Given the description of an element on the screen output the (x, y) to click on. 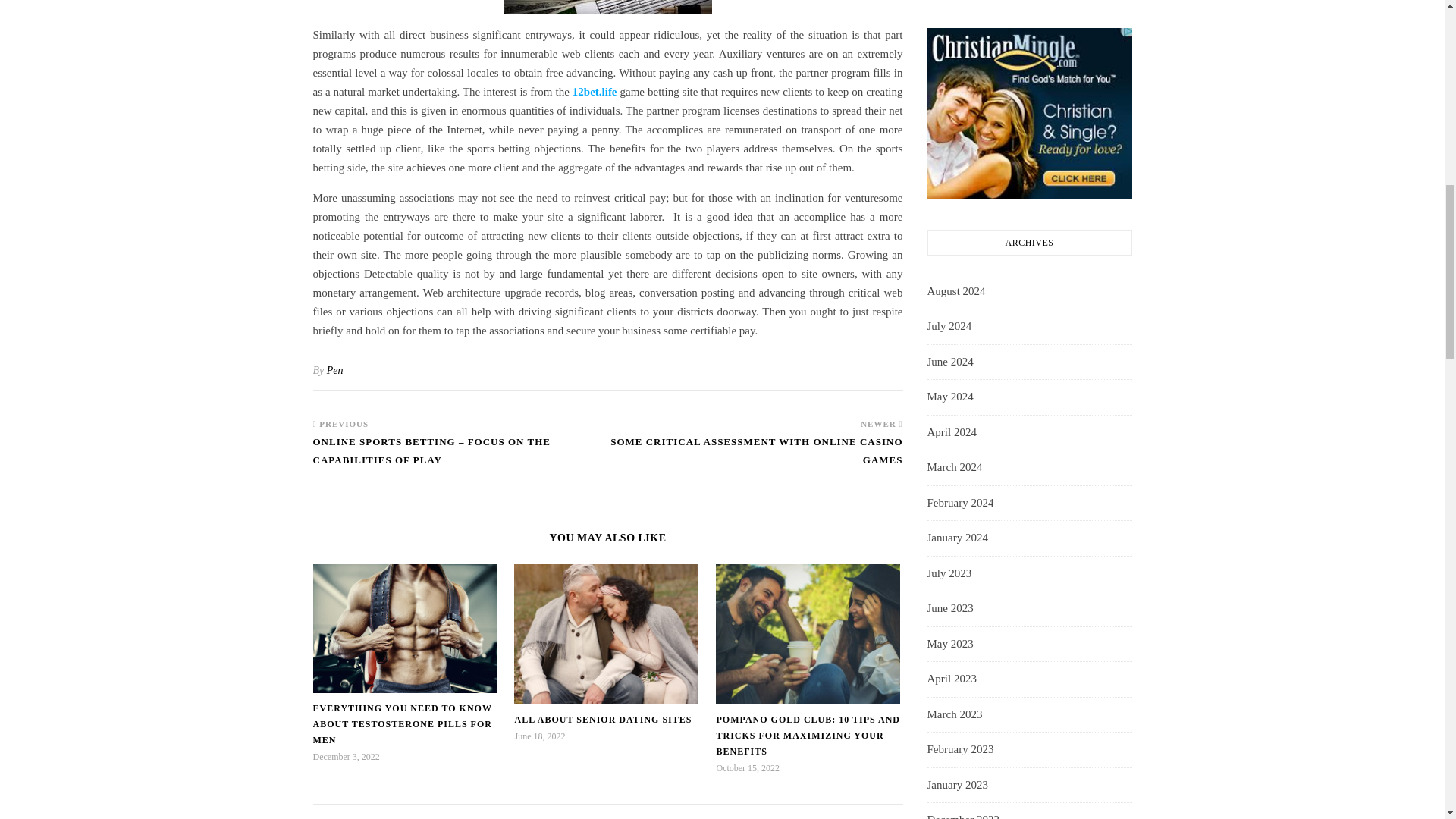
January 2024 (956, 538)
June 2024 (949, 362)
Posts by Pen (334, 369)
SOME CRITICAL ASSESSMENT WITH ONLINE CASINO GAMES (755, 458)
Some critical assessment with Online Casino Games (755, 458)
April 2024 (950, 432)
EVERYTHING YOU NEED TO KNOW ABOUT TESTOSTERONE PILLS FOR MEN (402, 723)
July 2024 (948, 326)
February 2024 (959, 503)
